Given the description of an element on the screen output the (x, y) to click on. 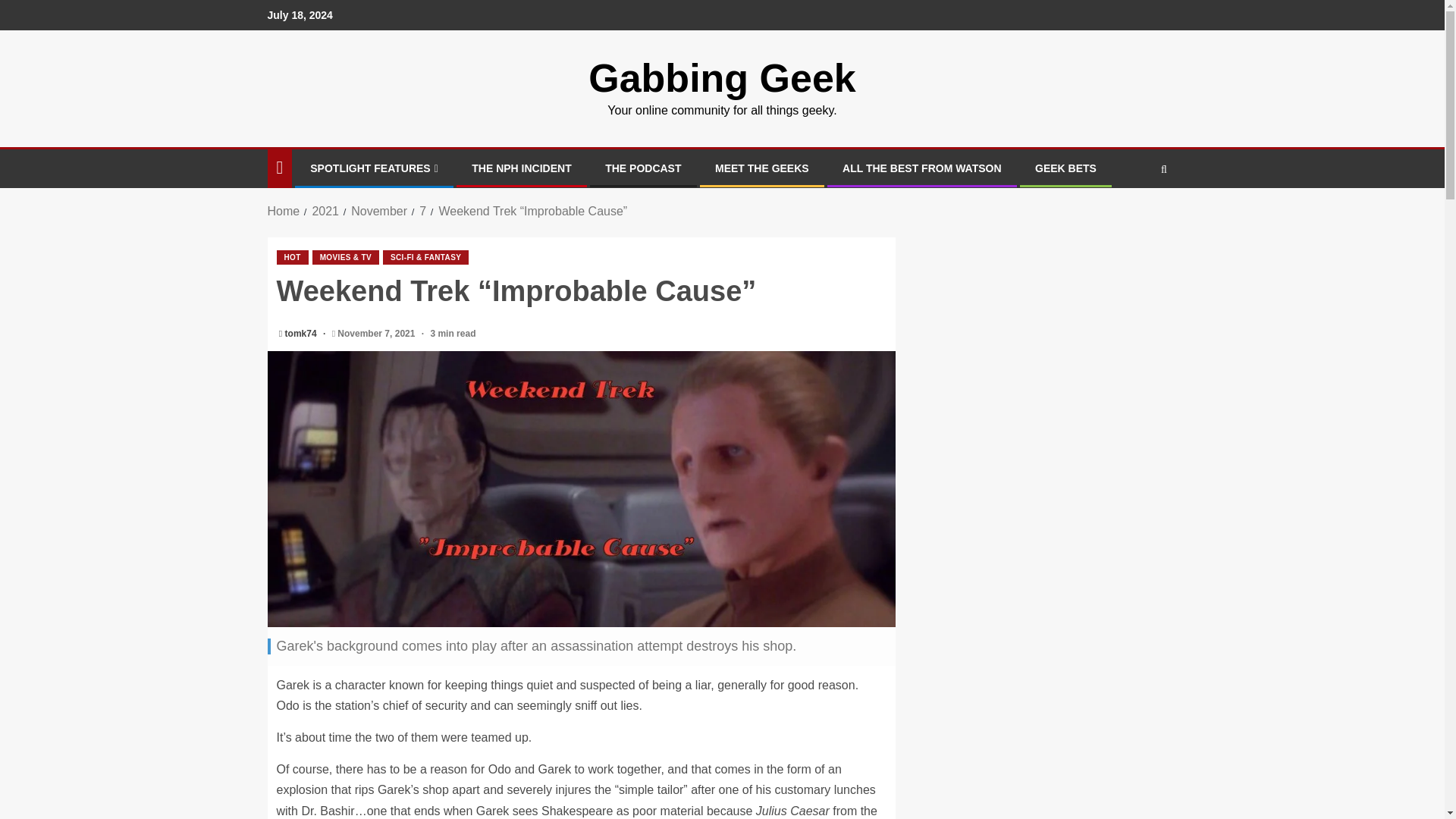
SPOTLIGHT FEATURES (374, 168)
Gabbing Geek (722, 77)
